Given the description of an element on the screen output the (x, y) to click on. 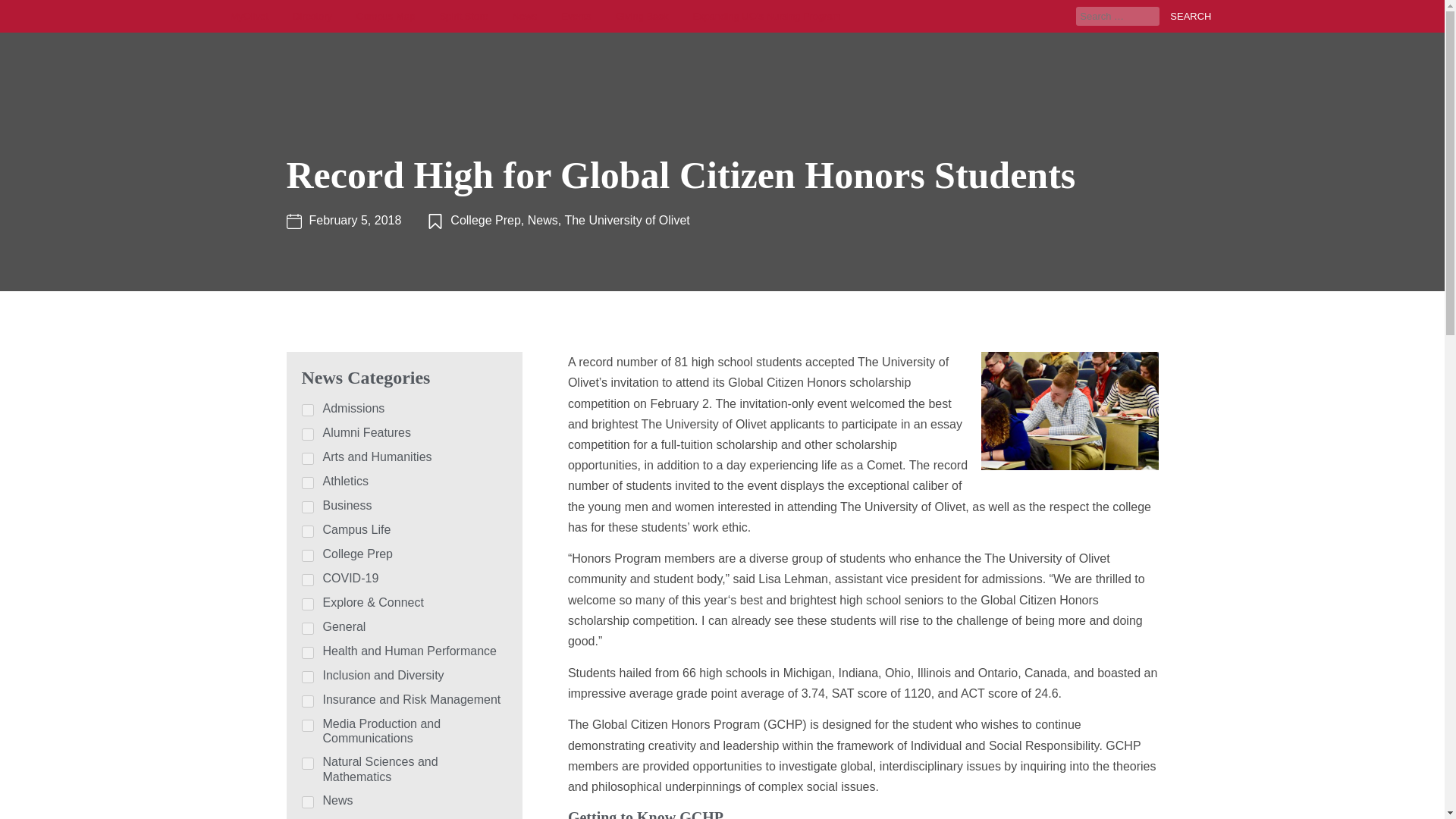
Search (1186, 15)
50 (307, 458)
Campus Map (384, 16)
159 (307, 434)
172 (307, 676)
Search (1186, 15)
42 (307, 802)
News (525, 16)
192 (307, 725)
194 (307, 604)
